Given the description of an element on the screen output the (x, y) to click on. 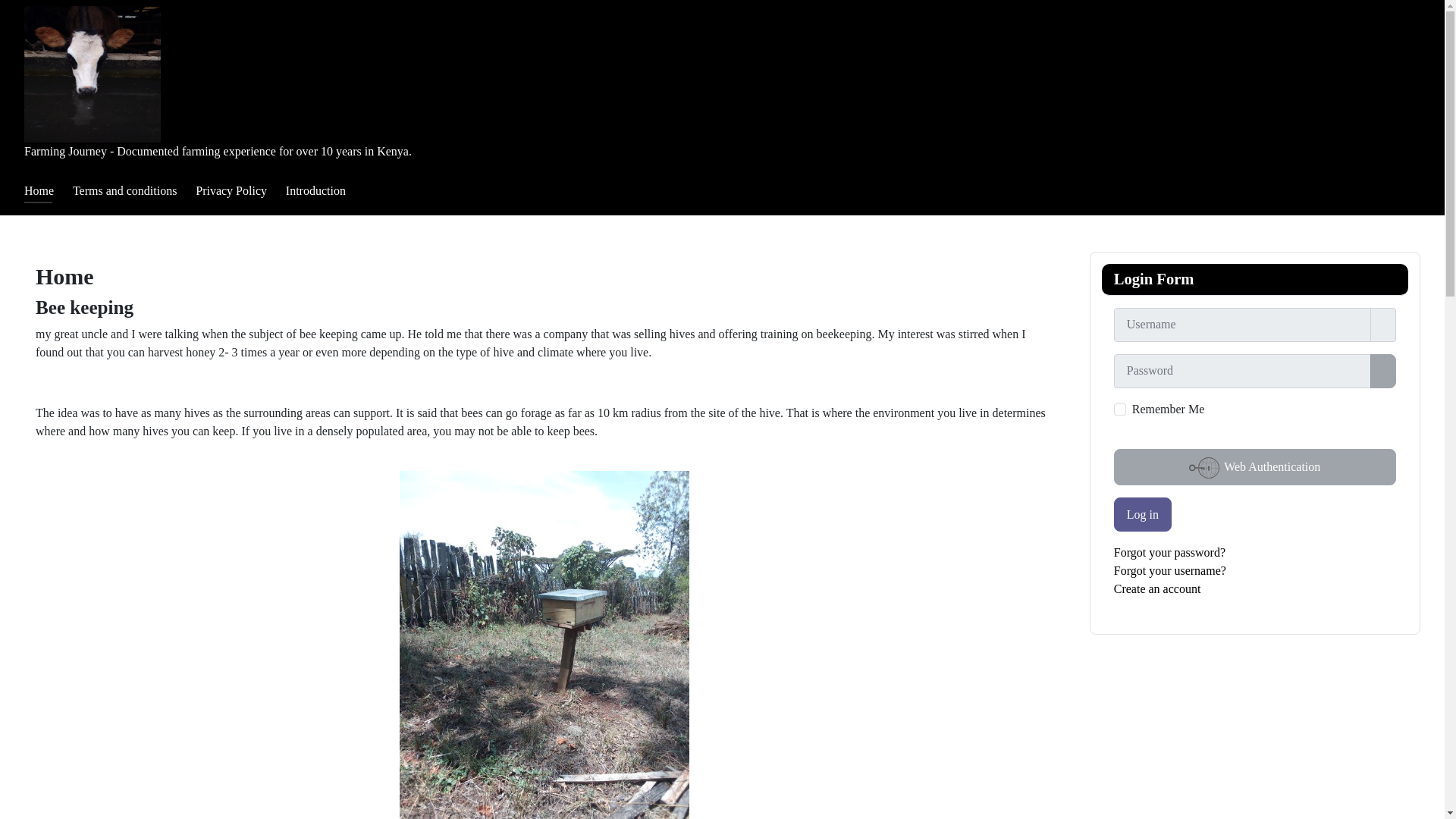
Home (38, 190)
Log in (1142, 514)
Forgot your password? (1169, 552)
yes (1119, 409)
Forgot your username? (1169, 570)
Web Authentication (1254, 466)
Create an account (1157, 588)
Terms and conditions (124, 190)
Web Authentication (1254, 466)
Introduction (315, 190)
Privacy Policy (230, 190)
